Given the description of an element on the screen output the (x, y) to click on. 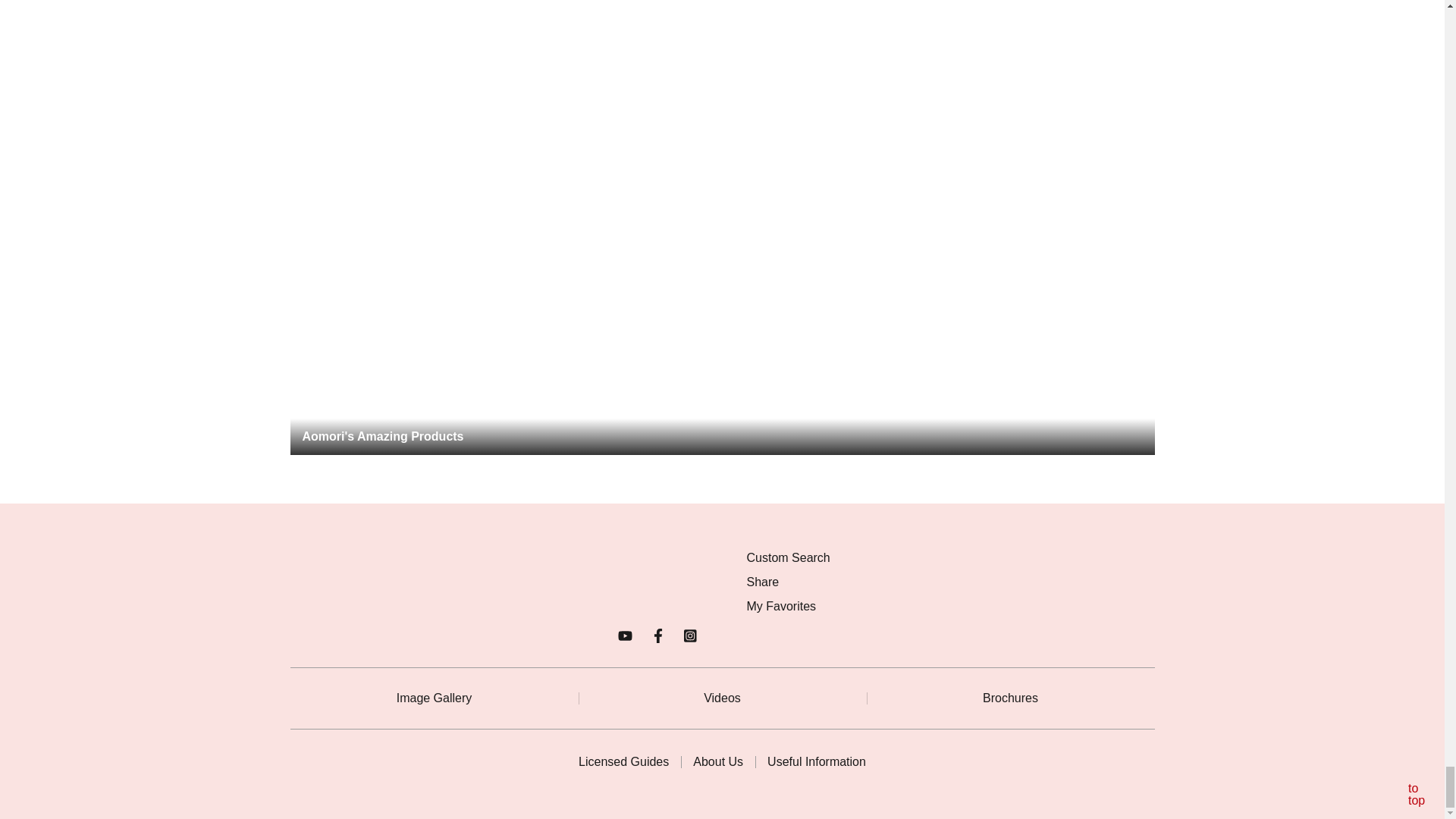
Useful Information (816, 761)
My Favorites (780, 606)
Videos (722, 698)
Facebook (657, 635)
Youtube (624, 635)
Image Gallery (433, 698)
Instagram (689, 635)
Custom Search (787, 558)
About Us (717, 761)
Licensed Guides (623, 761)
Share (761, 582)
Brochures (1010, 698)
